Given the description of an element on the screen output the (x, y) to click on. 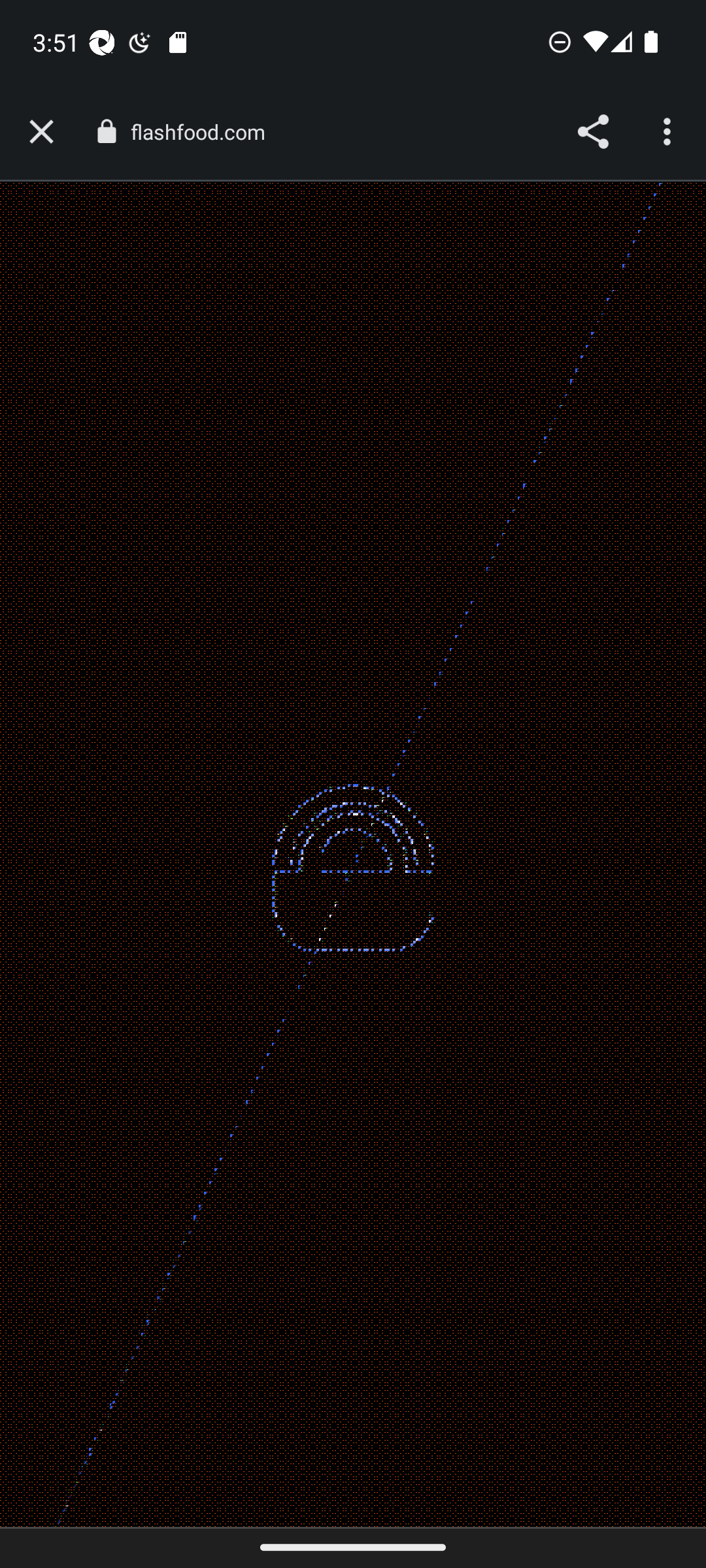
Close tab (41, 131)
Share (592, 131)
More options (669, 131)
Connection is secure (106, 131)
flashfood.com (204, 131)
